Given the description of an element on the screen output the (x, y) to click on. 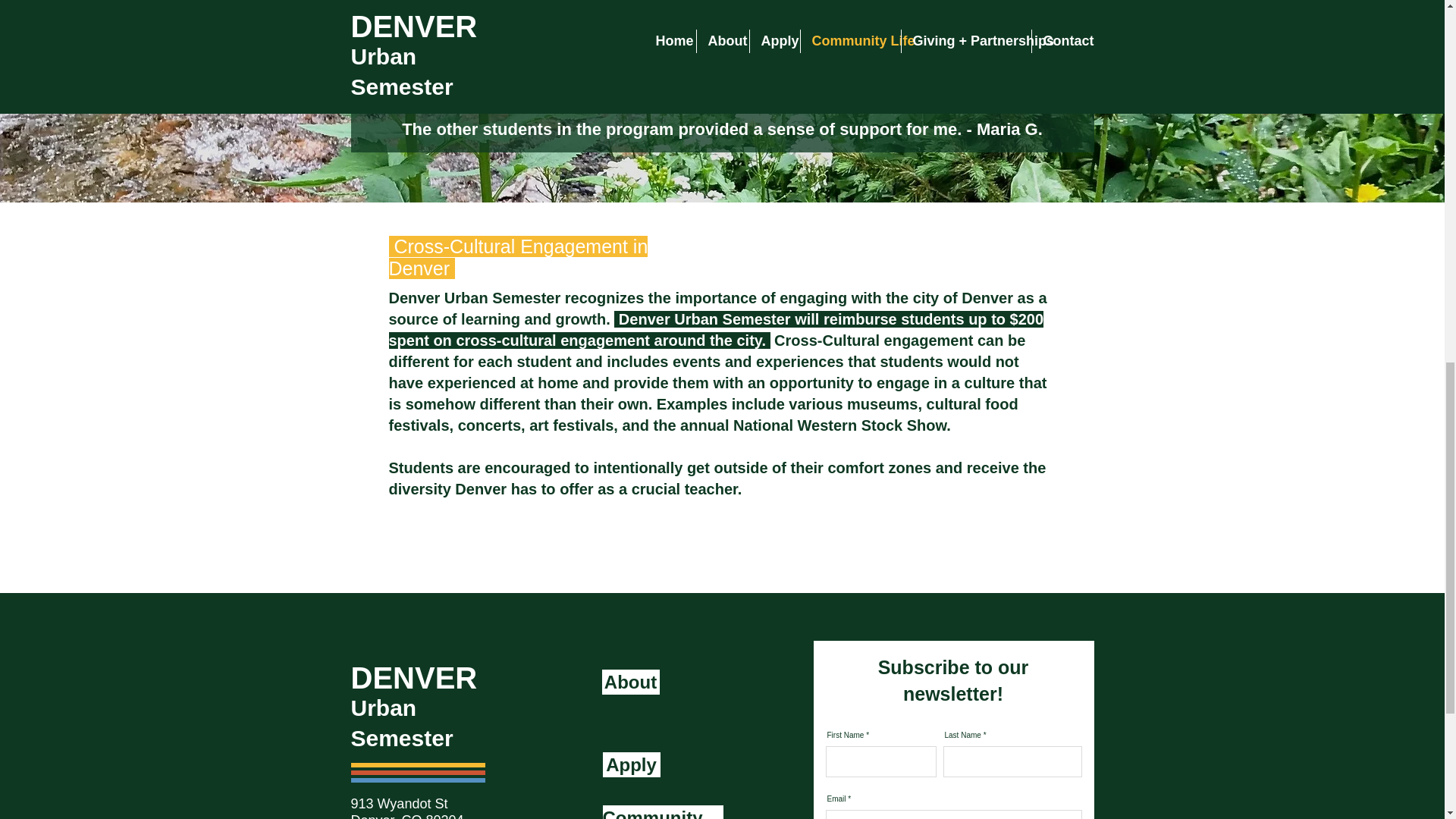
About (630, 681)
Community Life (662, 812)
Apply (630, 764)
